Given the description of an element on the screen output the (x, y) to click on. 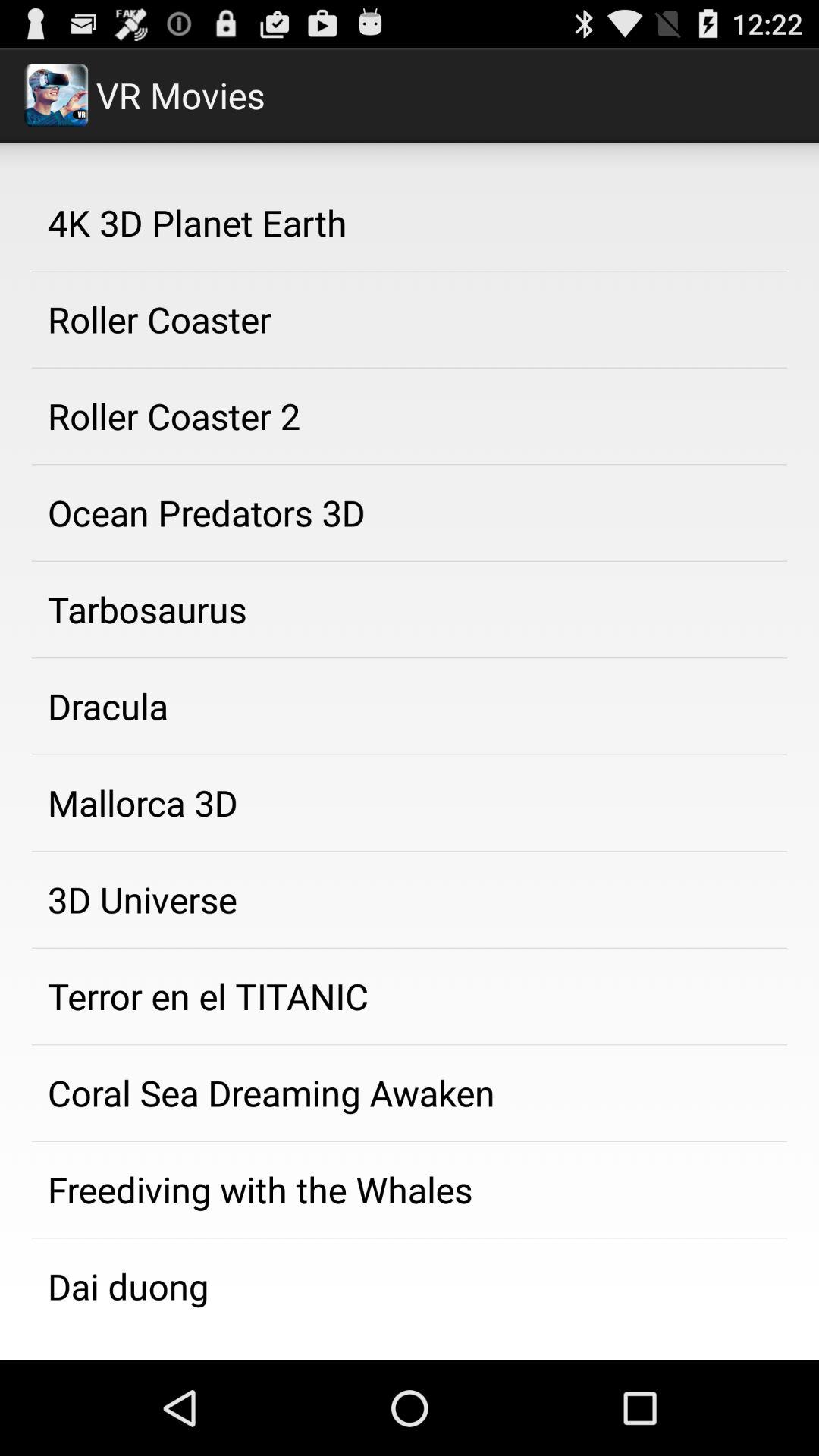
click the icon above mallorca 3d (409, 706)
